Given the description of an element on the screen output the (x, y) to click on. 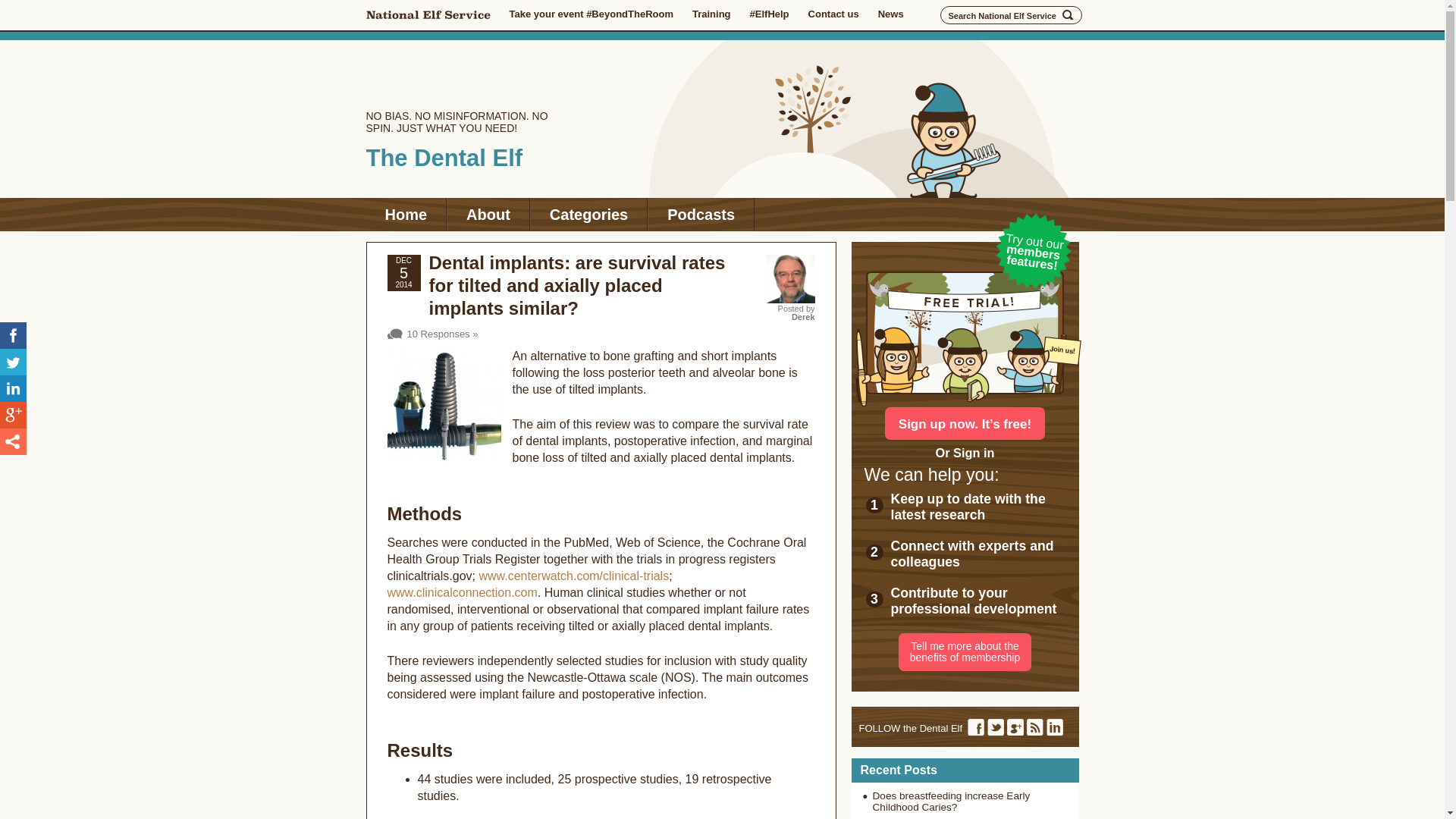
Search (1068, 14)
About (487, 214)
Share on LinkedIn (13, 388)
Share on Facebook (13, 335)
Contact us (833, 13)
Posts by Derek (803, 316)
Tweet this on Twitter (13, 361)
Search (1068, 14)
Training (711, 13)
News (890, 13)
